Given the description of an element on the screen output the (x, y) to click on. 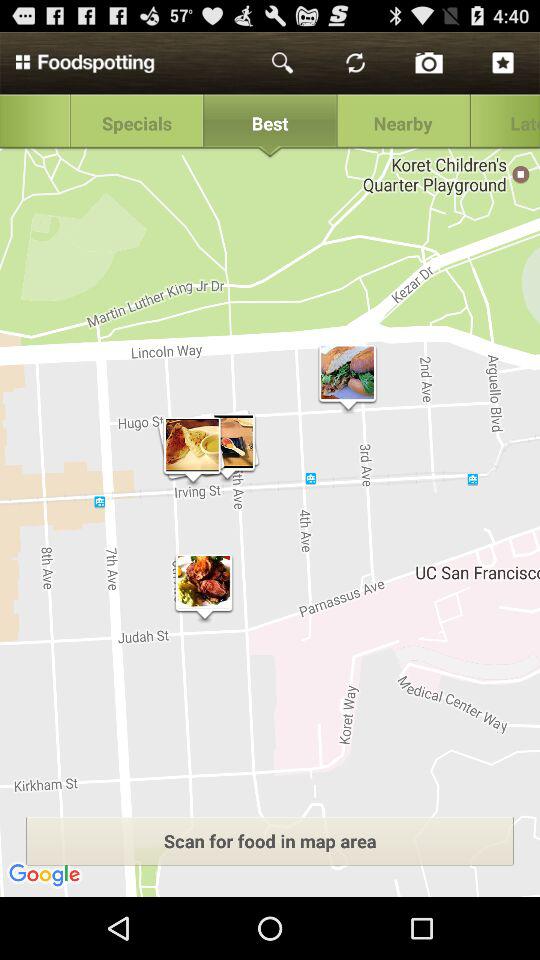
turn off the icon at the bottom (269, 840)
